Given the description of an element on the screen output the (x, y) to click on. 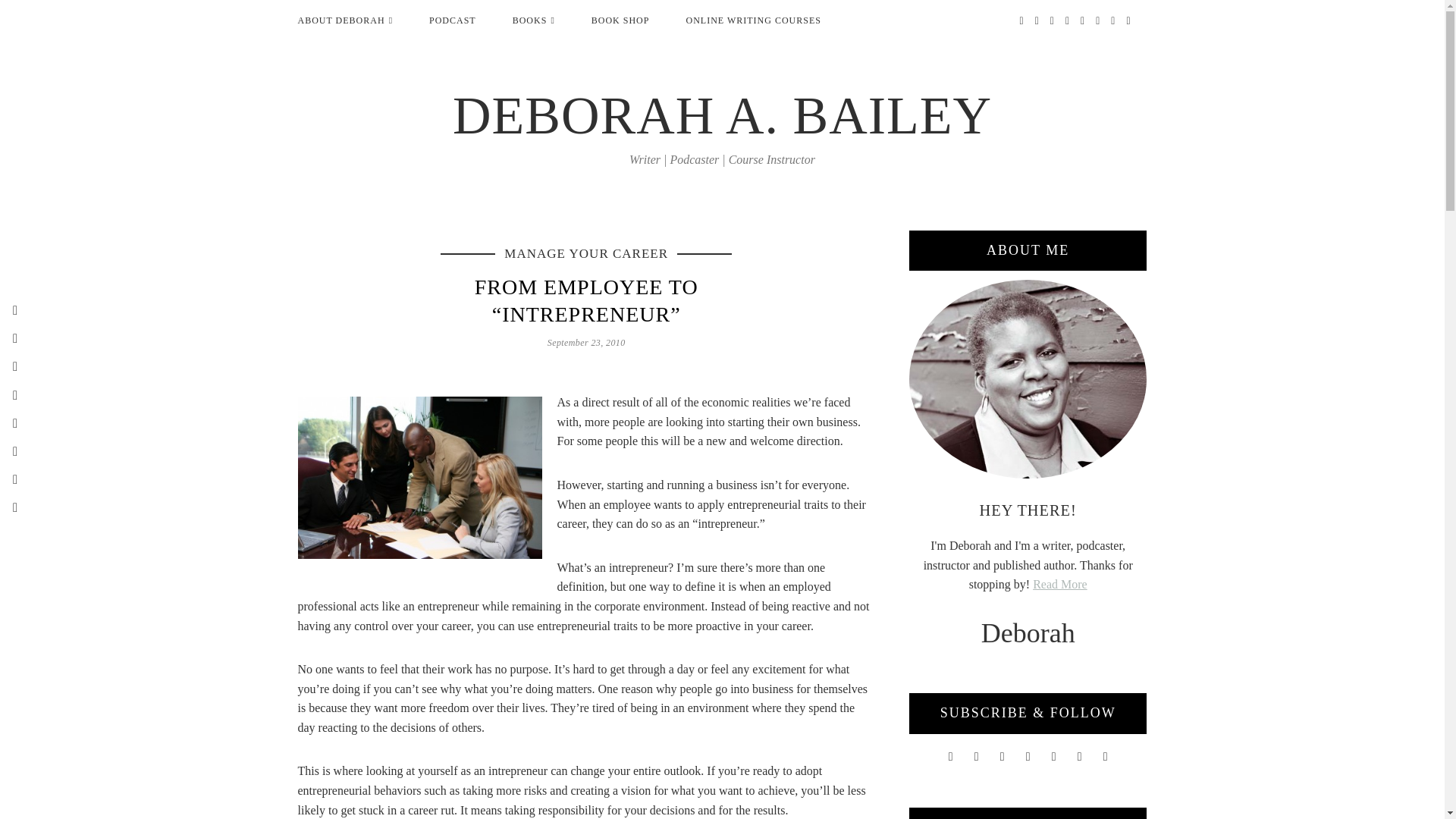
MANAGE YOUR CAREER (585, 253)
BOOK SHOP (620, 20)
Business Team Signing Contract (419, 477)
PODCAST (452, 20)
ONLINE WRITING COURSES (753, 20)
ABOUT DEBORAH (340, 20)
DEBORAH A. BAILEY (721, 115)
